Given the description of an element on the screen output the (x, y) to click on. 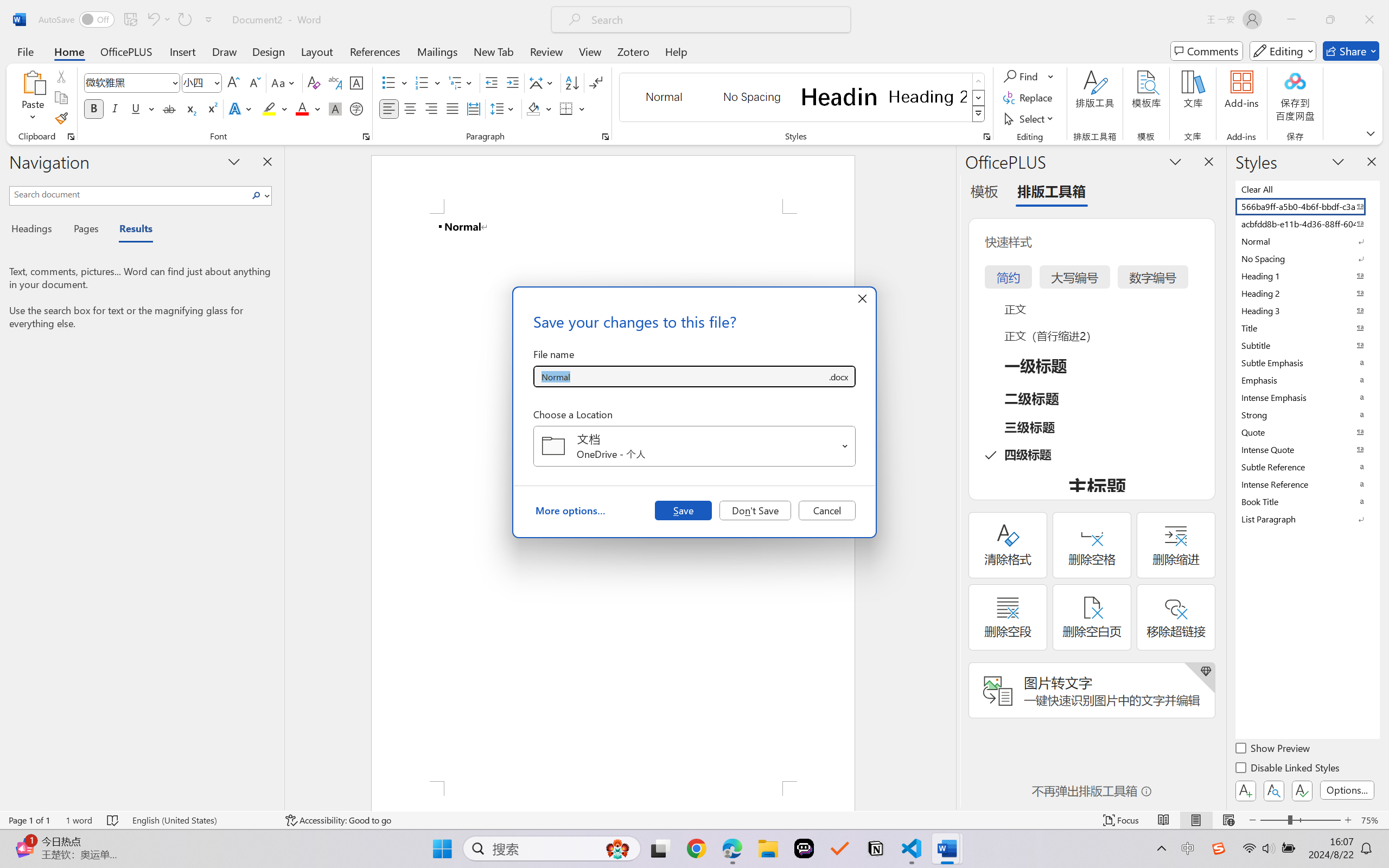
Intense Quote (1306, 449)
Language English (United States) (201, 819)
Text Highlight Color (274, 108)
Cancel (826, 509)
Subtitle (1306, 345)
Clear Formatting (313, 82)
Class: NetUIImage (978, 114)
Strong (1306, 414)
Class: Image (1218, 847)
Shrink Font (253, 82)
